Given the description of an element on the screen output the (x, y) to click on. 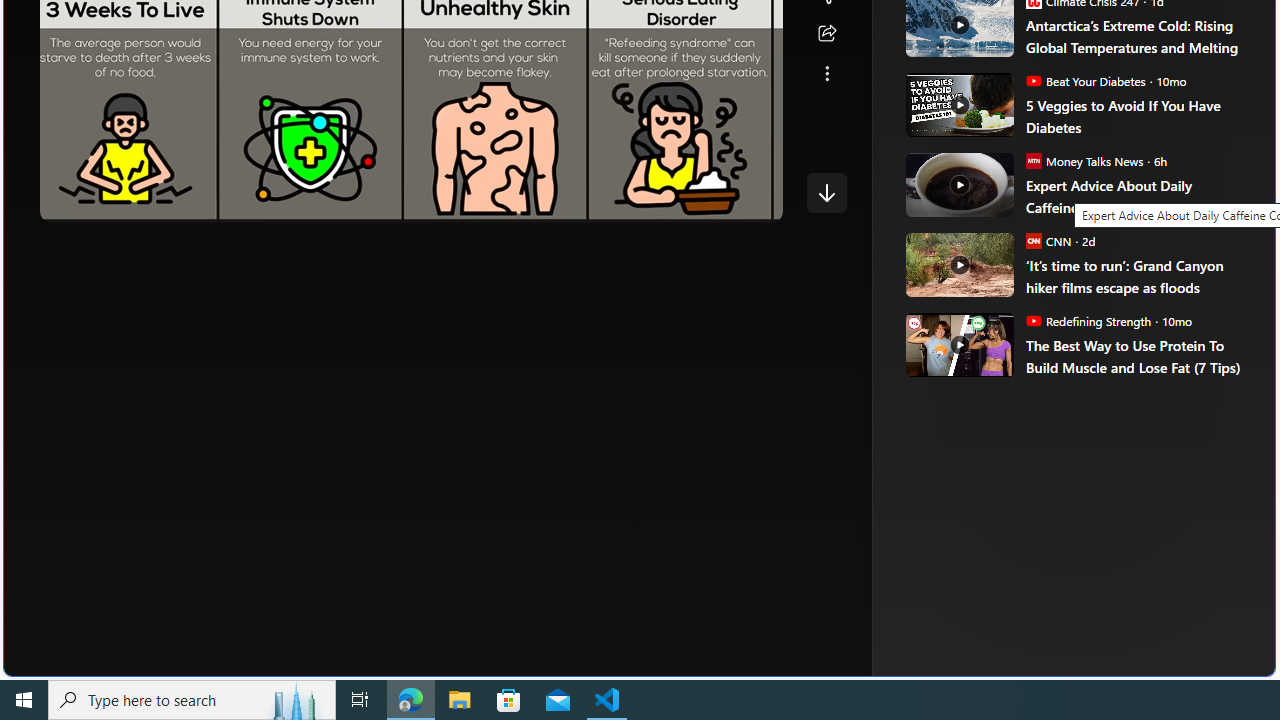
Nordace (1003, 337)
Settings (644, 202)
Ad (963, 337)
Seek slider (411, 182)
Subtitles/closed captions unavailable (603, 202)
5 Veggies to Avoid If You Have Diabetes (1136, 116)
Redefining Strength (1033, 320)
Money Talks News Money Talks News (1084, 160)
Beat Your Diabetes Beat Your Diabetes (1085, 80)
Class: ytp-subtitles-button-icon (603, 202)
